Given the description of an element on the screen output the (x, y) to click on. 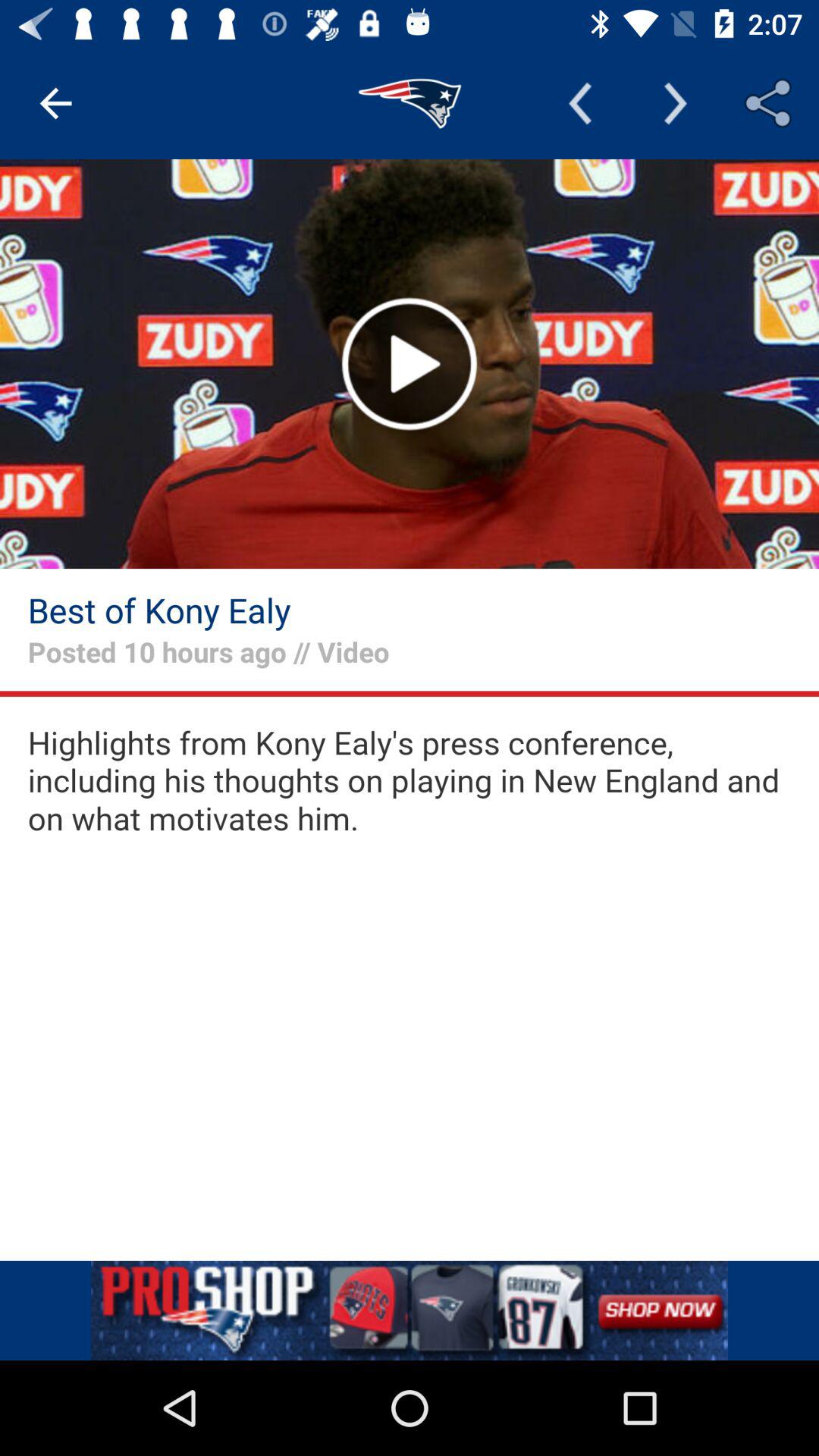
remove the add (409, 1310)
